Given the description of an element on the screen output the (x, y) to click on. 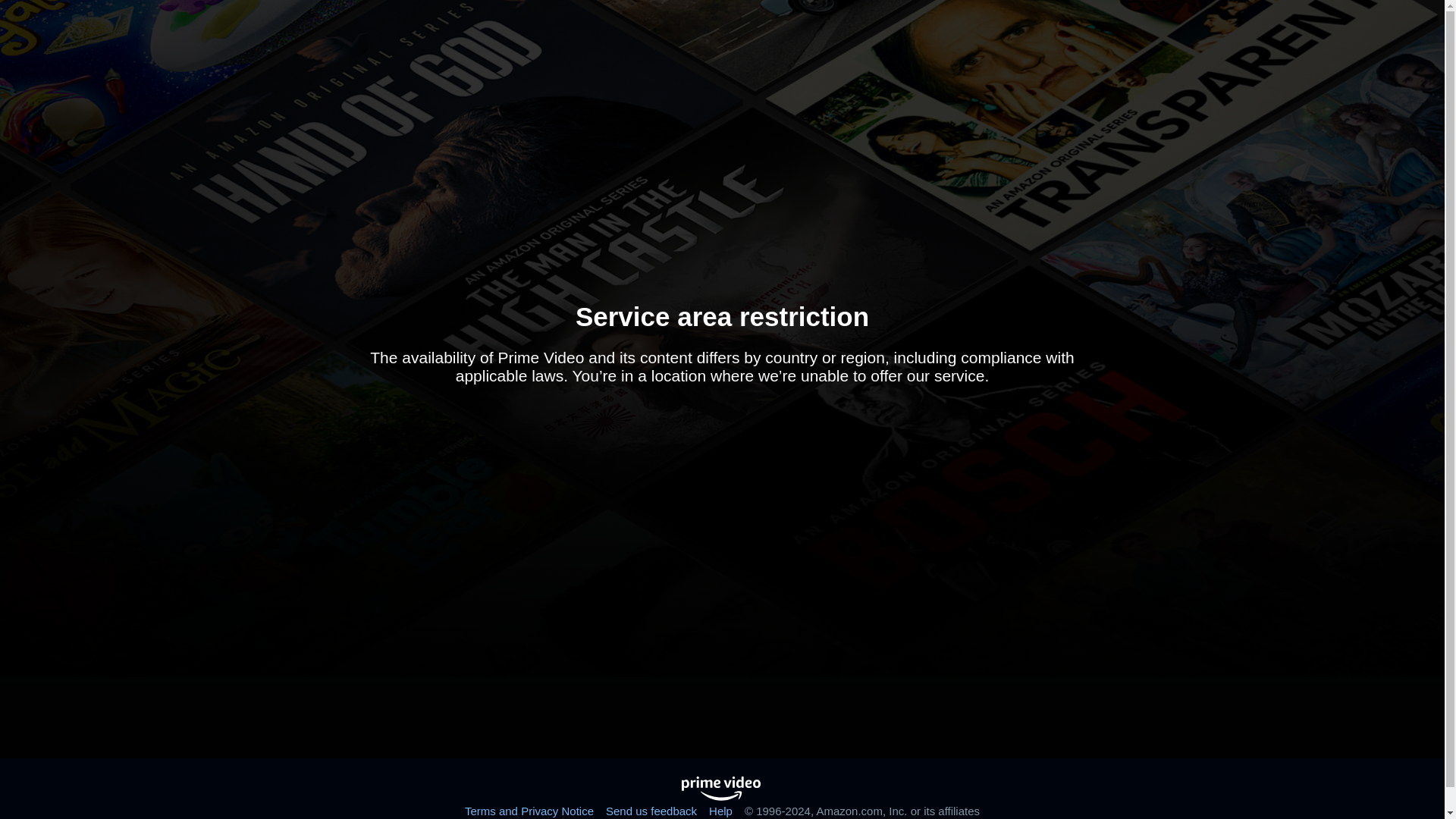
Terms and Privacy Notice (529, 810)
Send us feedback (651, 810)
Help (720, 810)
